Given the description of an element on the screen output the (x, y) to click on. 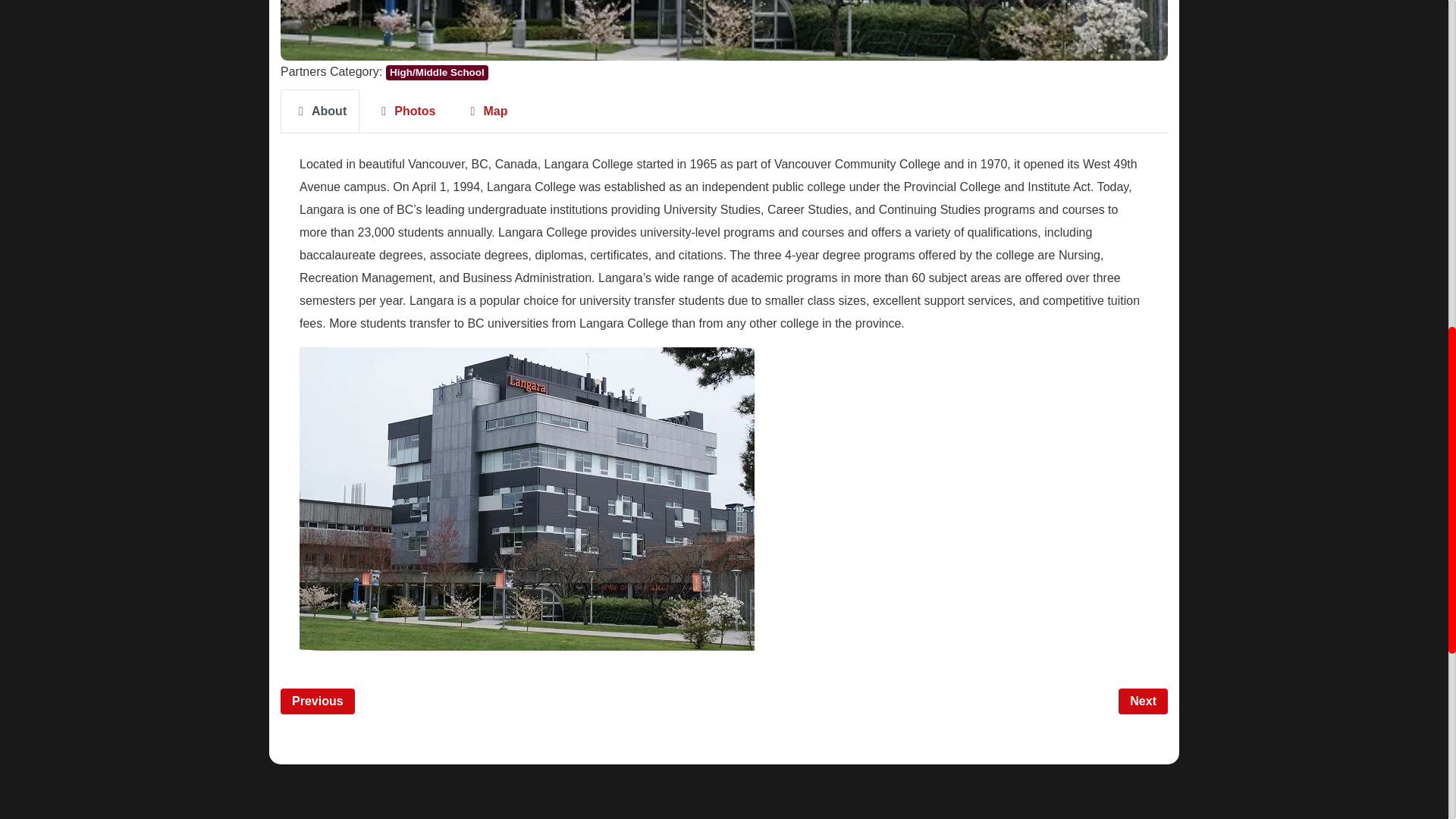
Map (485, 111)
Photos (405, 111)
About (320, 111)
